Given the description of an element on the screen output the (x, y) to click on. 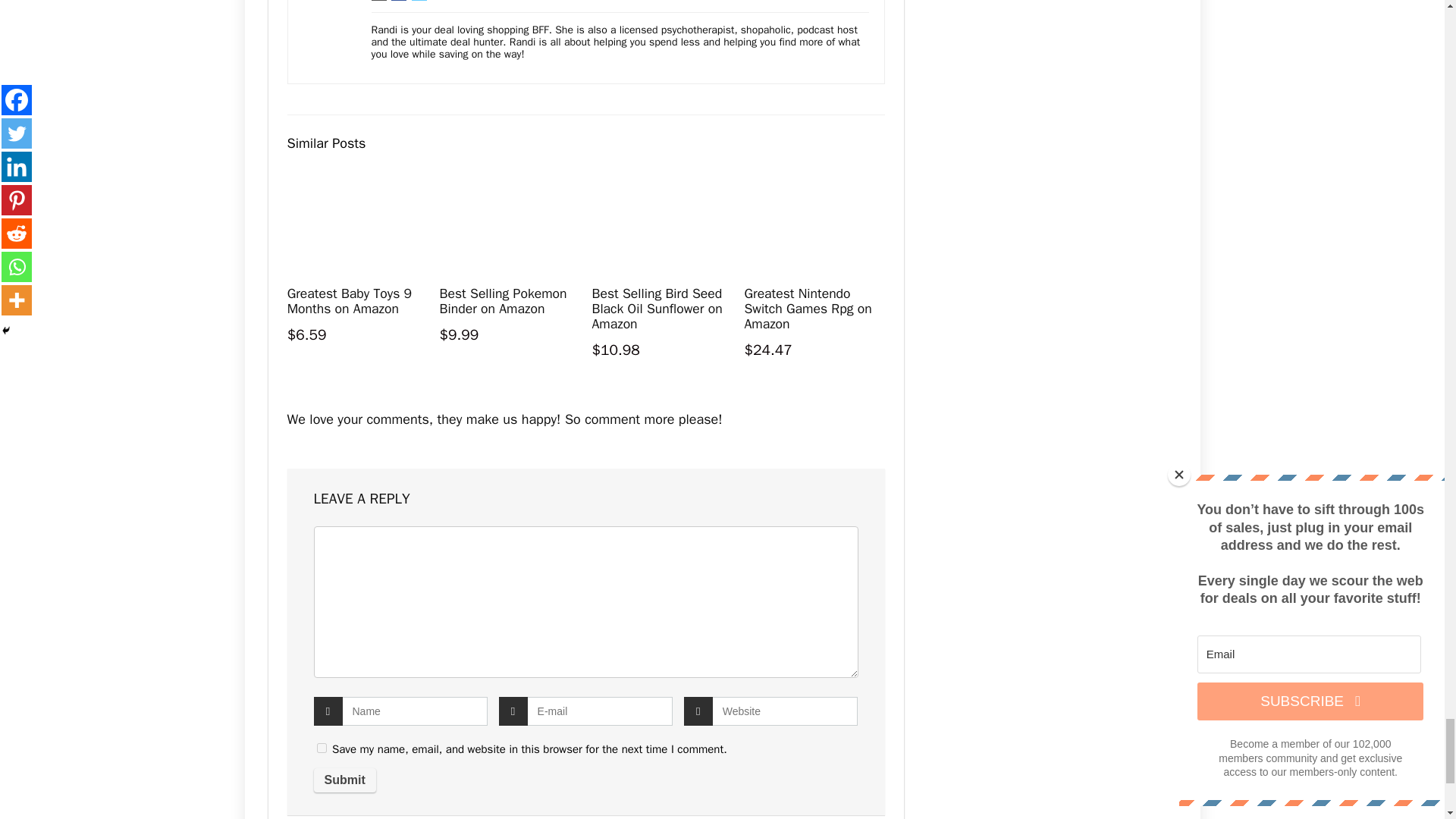
yes (321, 747)
Submit (344, 780)
